Given the description of an element on the screen output the (x, y) to click on. 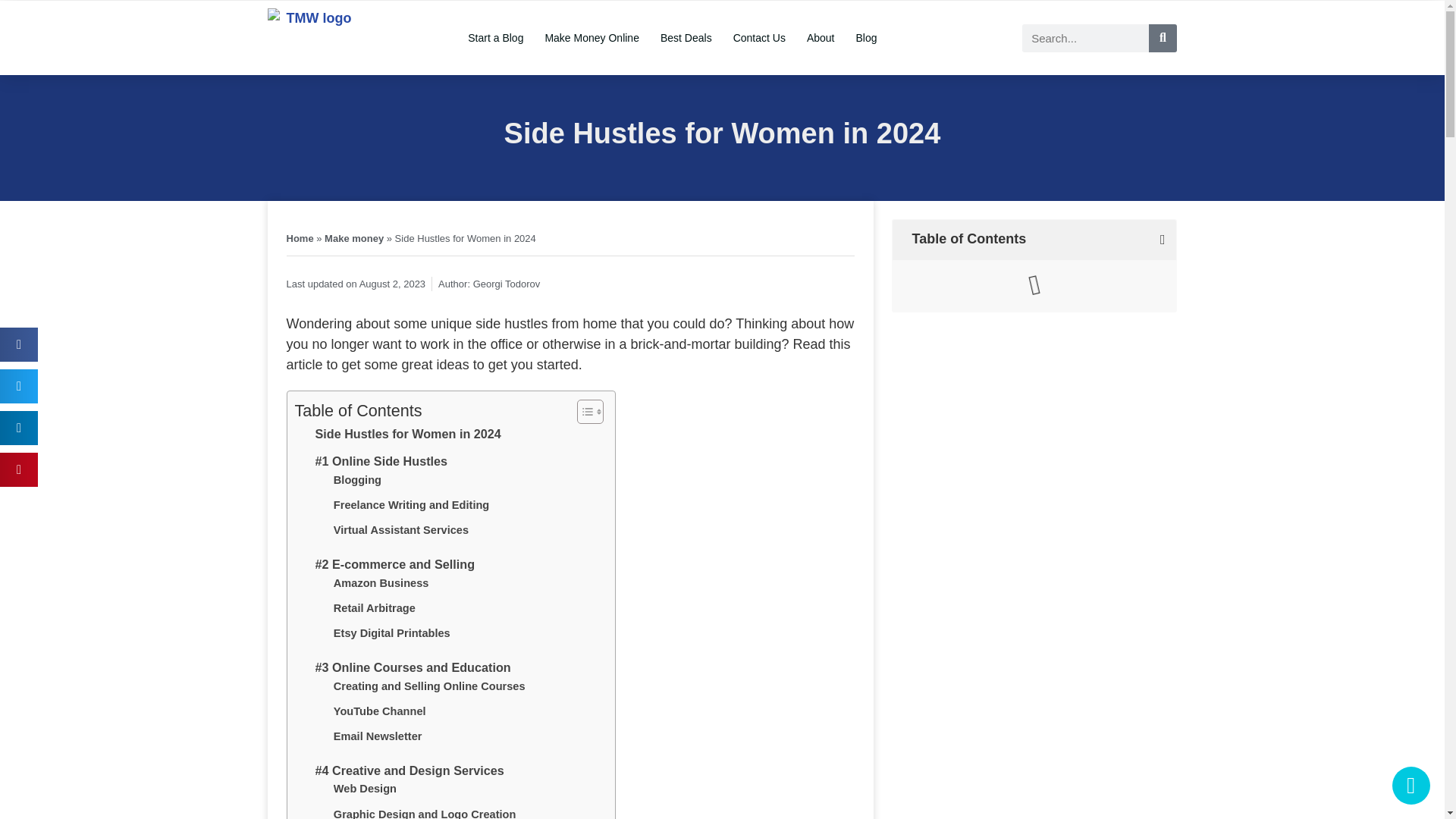
About (820, 37)
Author: Georgi Todorov (489, 283)
Contact Us (759, 37)
Blog (865, 37)
Amazon Business (381, 583)
Retail Arbitrage (373, 608)
Freelance Writing and Editing (411, 505)
Make Money Online (591, 37)
Virtual Assistant Services (400, 529)
Graphic Design and Logo Creation (424, 812)
Blogging (357, 479)
Side Hustles for Women in 2024 (407, 434)
Email Newsletter (377, 736)
Best Deals (685, 37)
Creating and Selling Online Courses (429, 686)
